Given the description of an element on the screen output the (x, y) to click on. 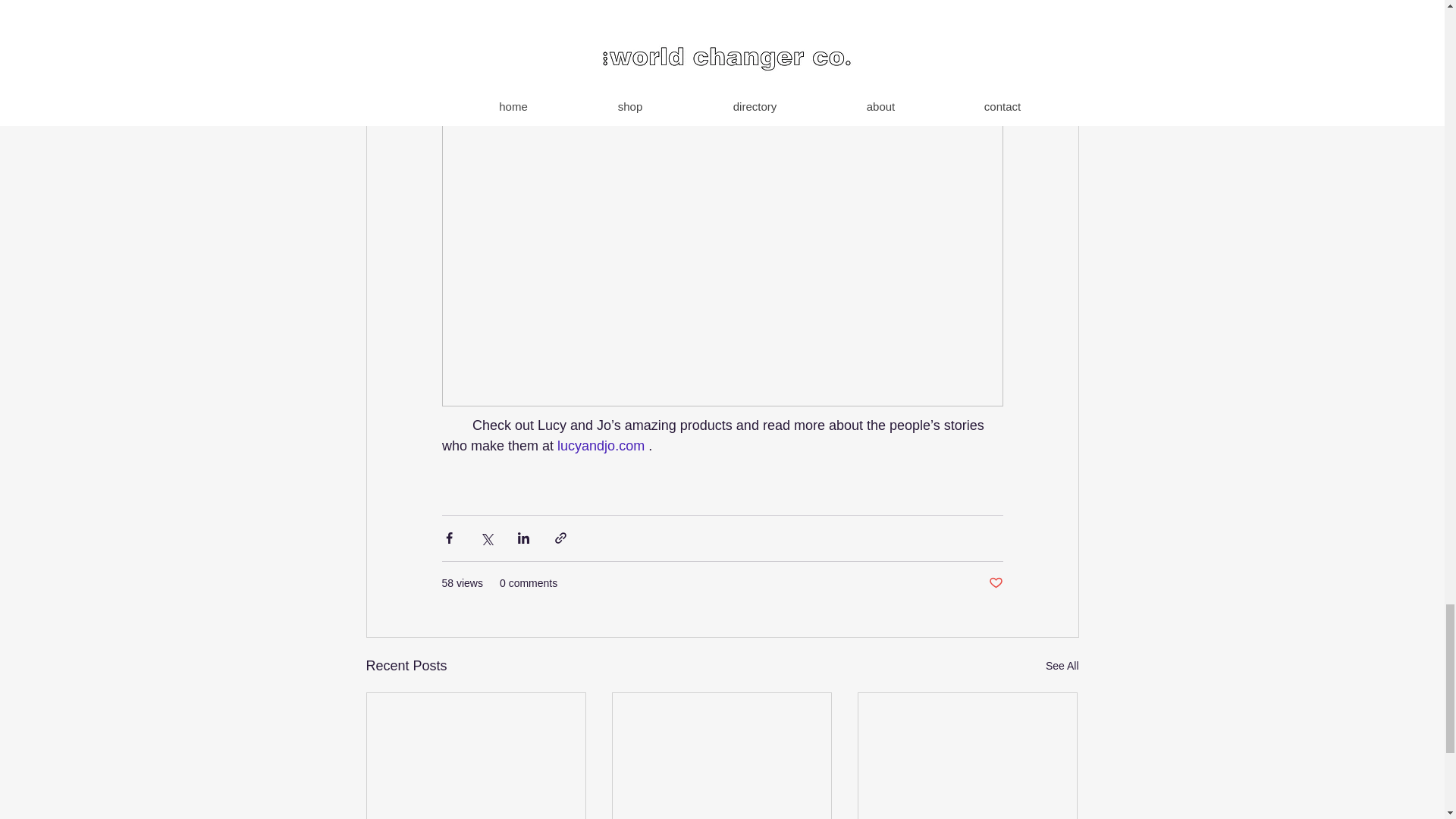
lucyandjo.com (601, 445)
See All (1061, 666)
Post not marked as liked (995, 583)
